Given the description of an element on the screen output the (x, y) to click on. 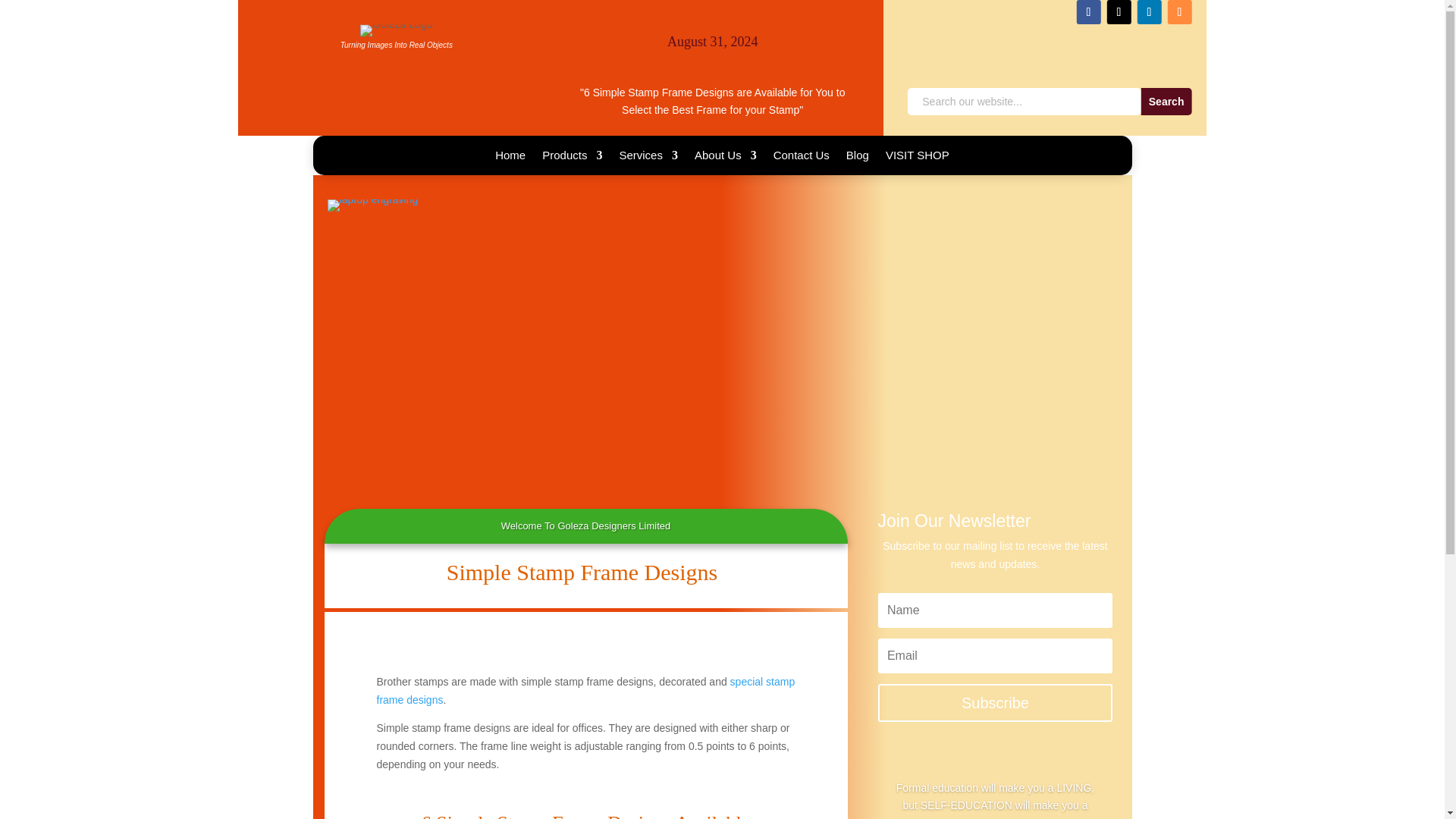
Follow on Facebook (1087, 12)
Search (1166, 101)
Search (1166, 101)
Home (510, 158)
Goleza-logo (395, 30)
Follow on LinkedIn (1148, 12)
Follow on X (1118, 12)
Follow on RSS (1179, 12)
Products (571, 158)
laptop-engraving (373, 199)
